Given the description of an element on the screen output the (x, y) to click on. 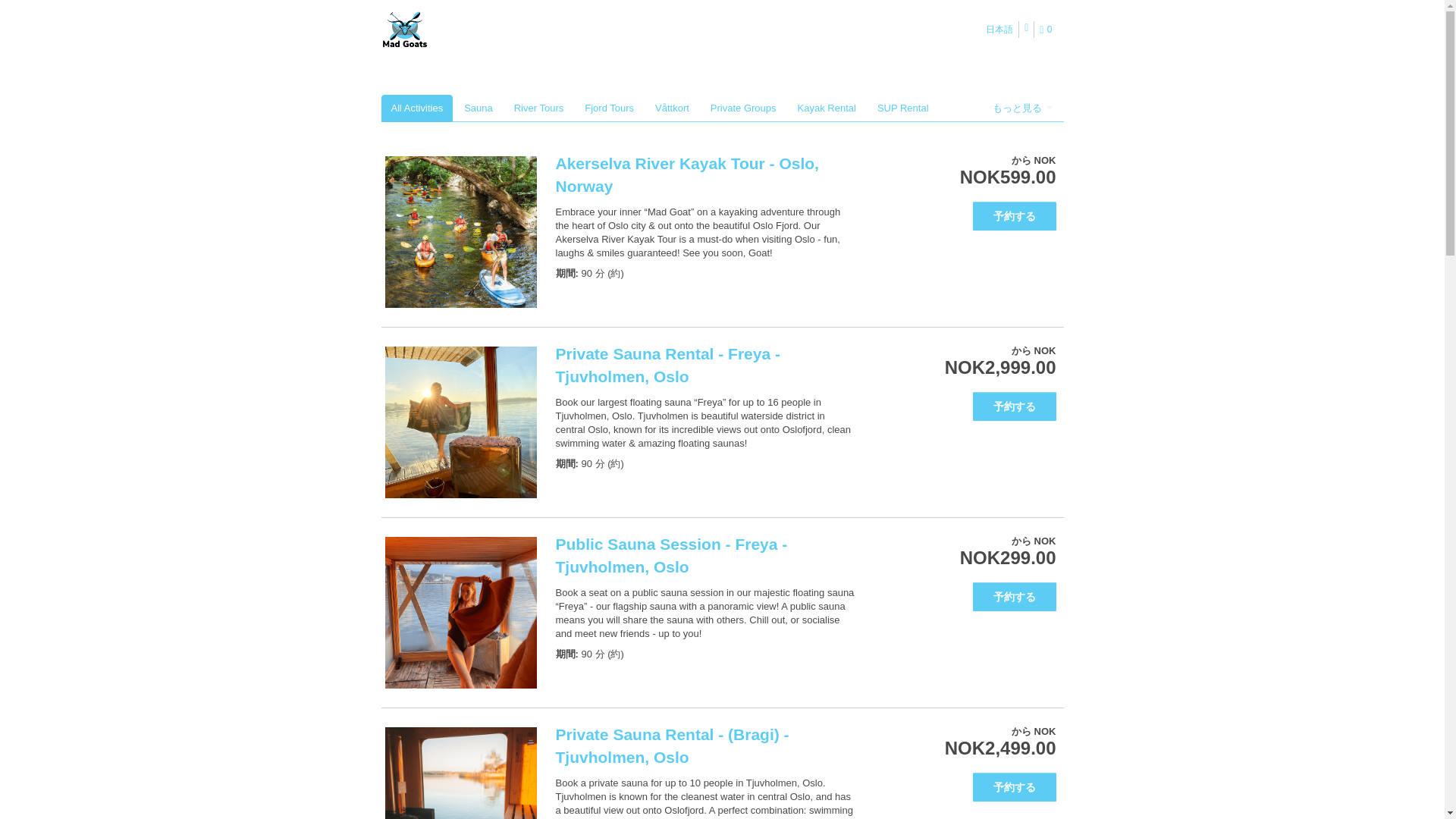
River Tours (538, 108)
0 (1047, 30)
All Activities (416, 108)
Sauna (478, 108)
